Given the description of an element on the screen output the (x, y) to click on. 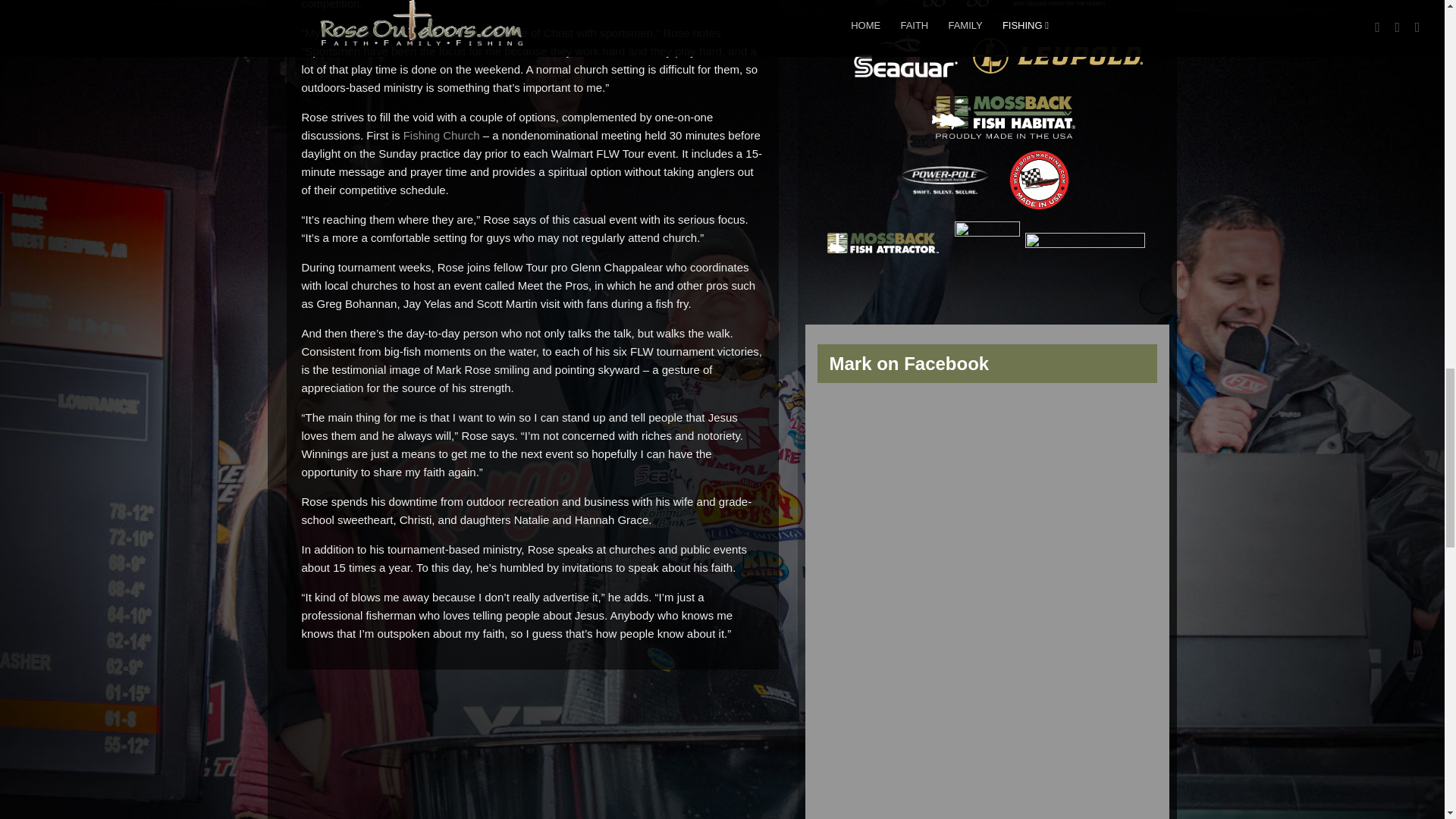
PowerPole (944, 180)
Fishing Church (441, 134)
